Given the description of an element on the screen output the (x, y) to click on. 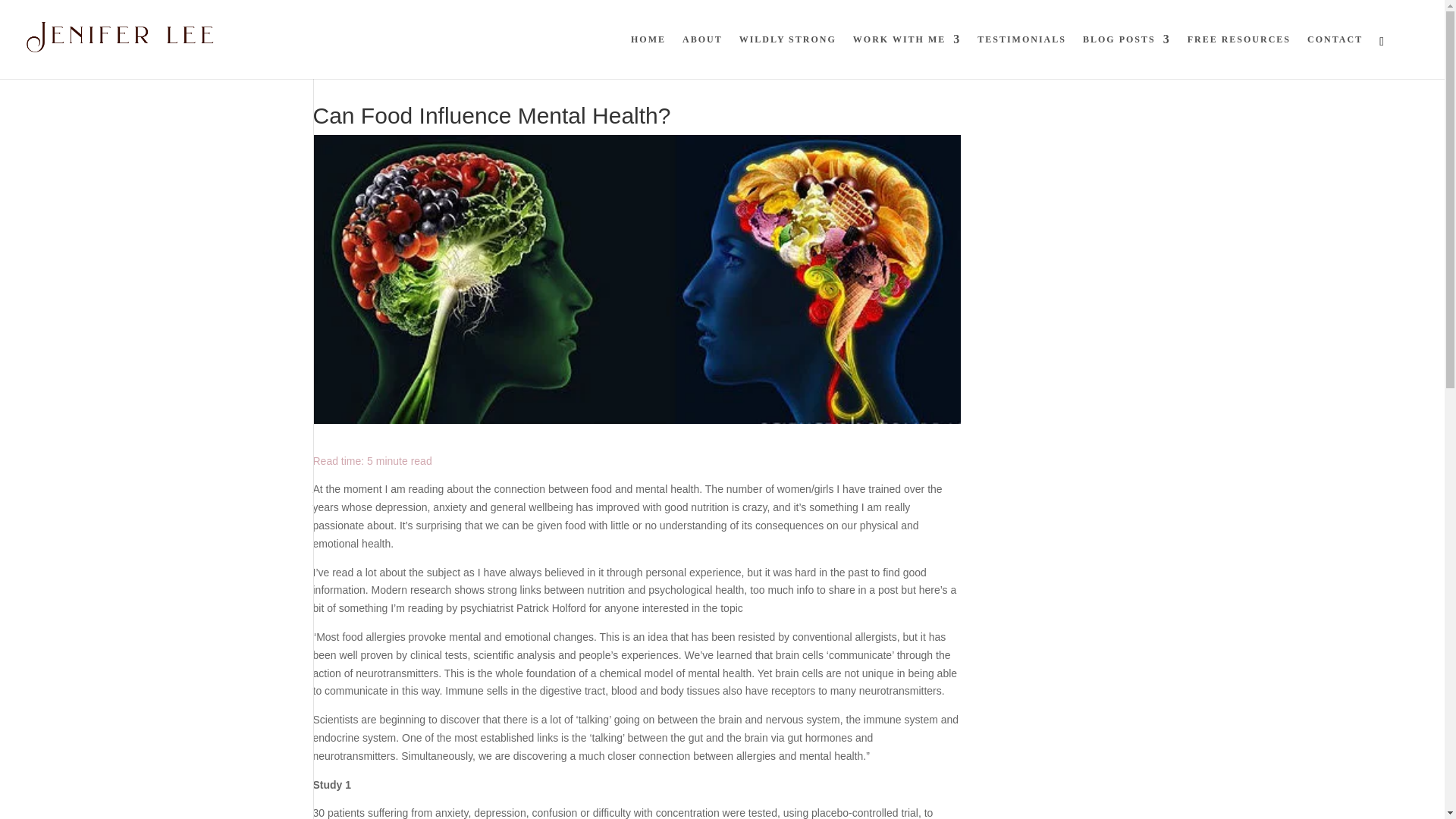
BLOG POSTS (1126, 56)
CONTACT (1334, 56)
ABOUT (702, 56)
WILDLY STRONG (787, 56)
FREE RESOURCES (1239, 56)
WORK WITH ME (906, 56)
TESTIMONIALS (1020, 56)
